Given the description of an element on the screen output the (x, y) to click on. 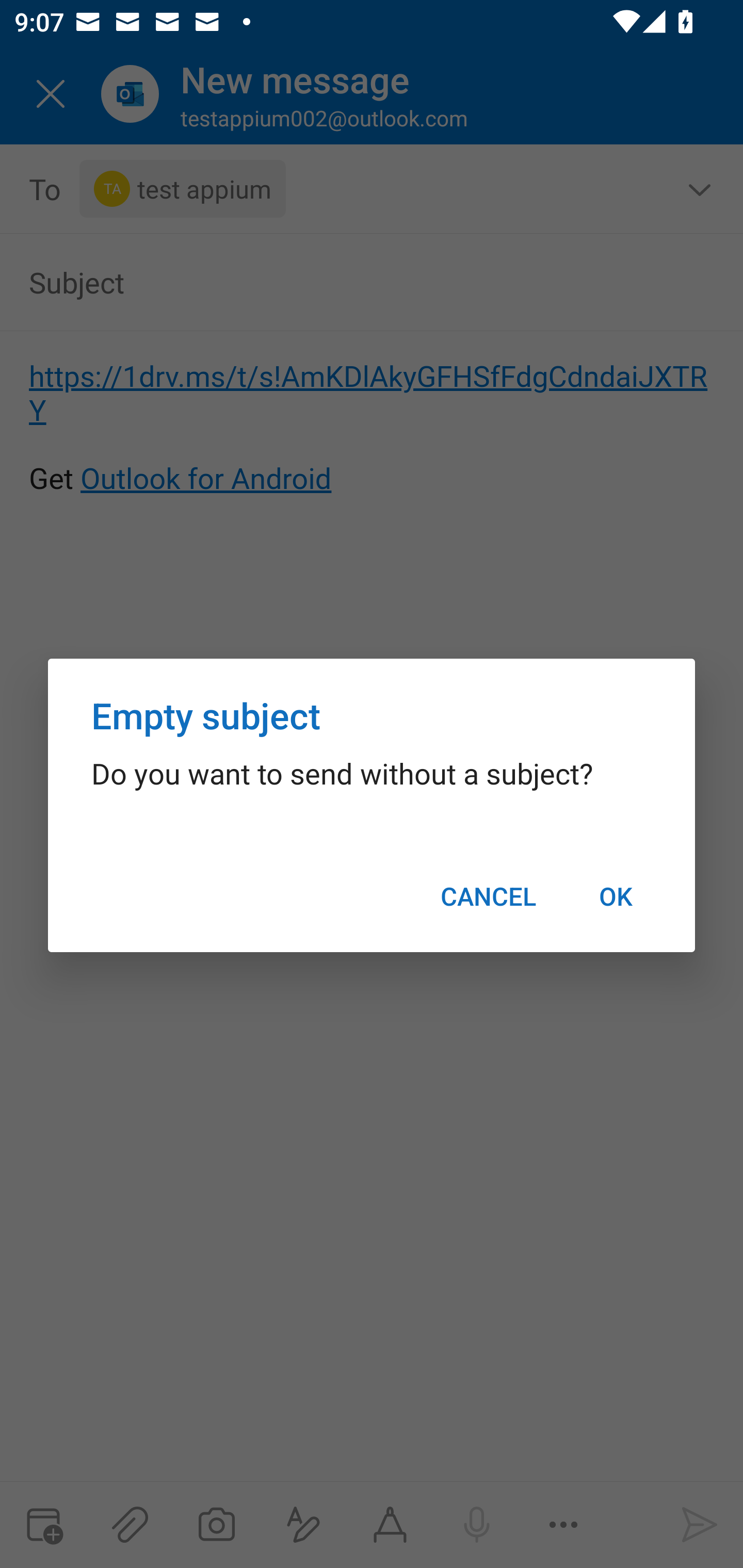
CANCEL (488, 895)
OK (615, 895)
